Given the description of an element on the screen output the (x, y) to click on. 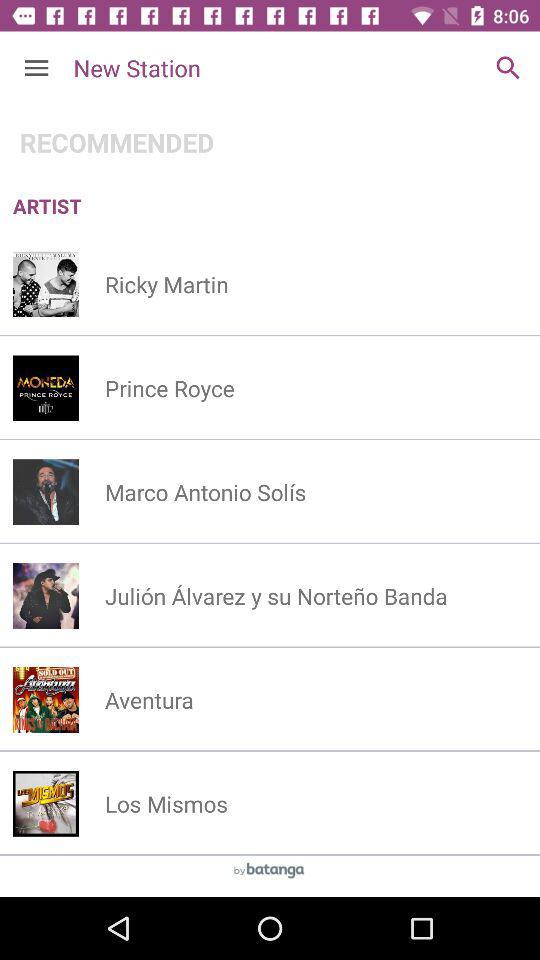
turn on the item at the top right corner (508, 67)
